Given the description of an element on the screen output the (x, y) to click on. 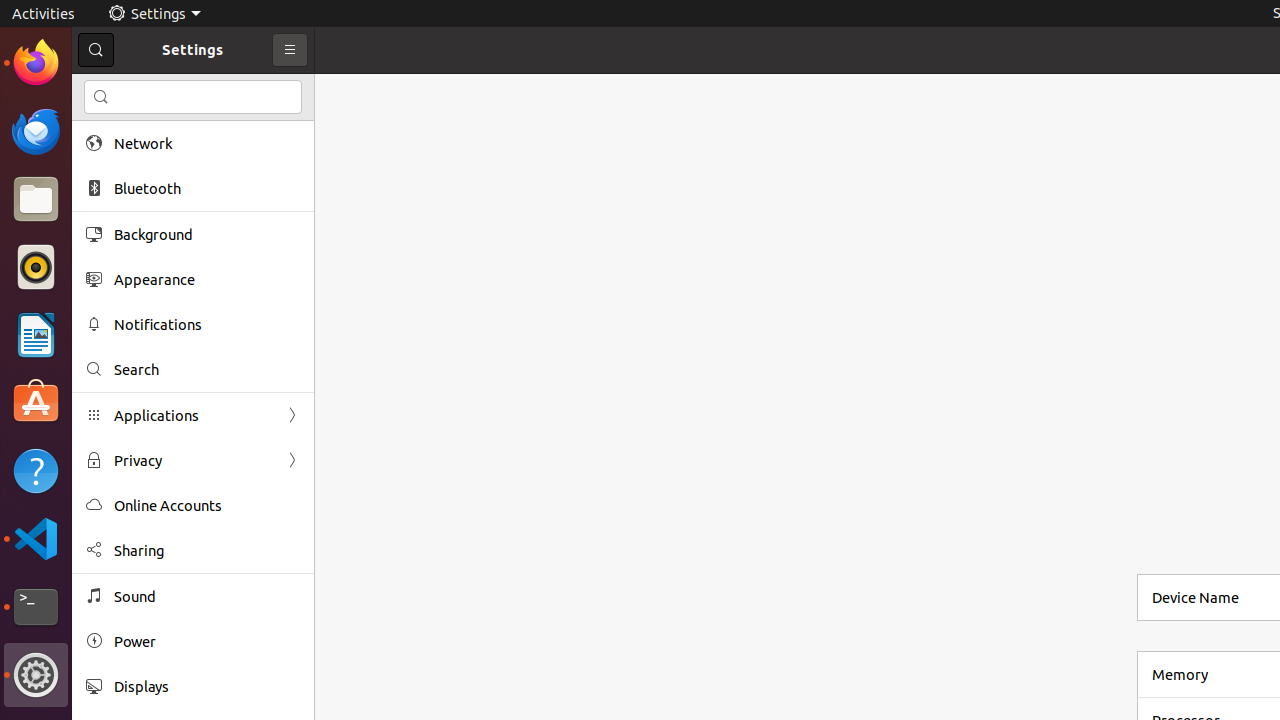
Bluetooth Element type: label (207, 188)
IsaHelpMain.desktop Element type: label (133, 300)
Sound Element type: label (207, 596)
Power Element type: label (207, 641)
